Given the description of an element on the screen output the (x, y) to click on. 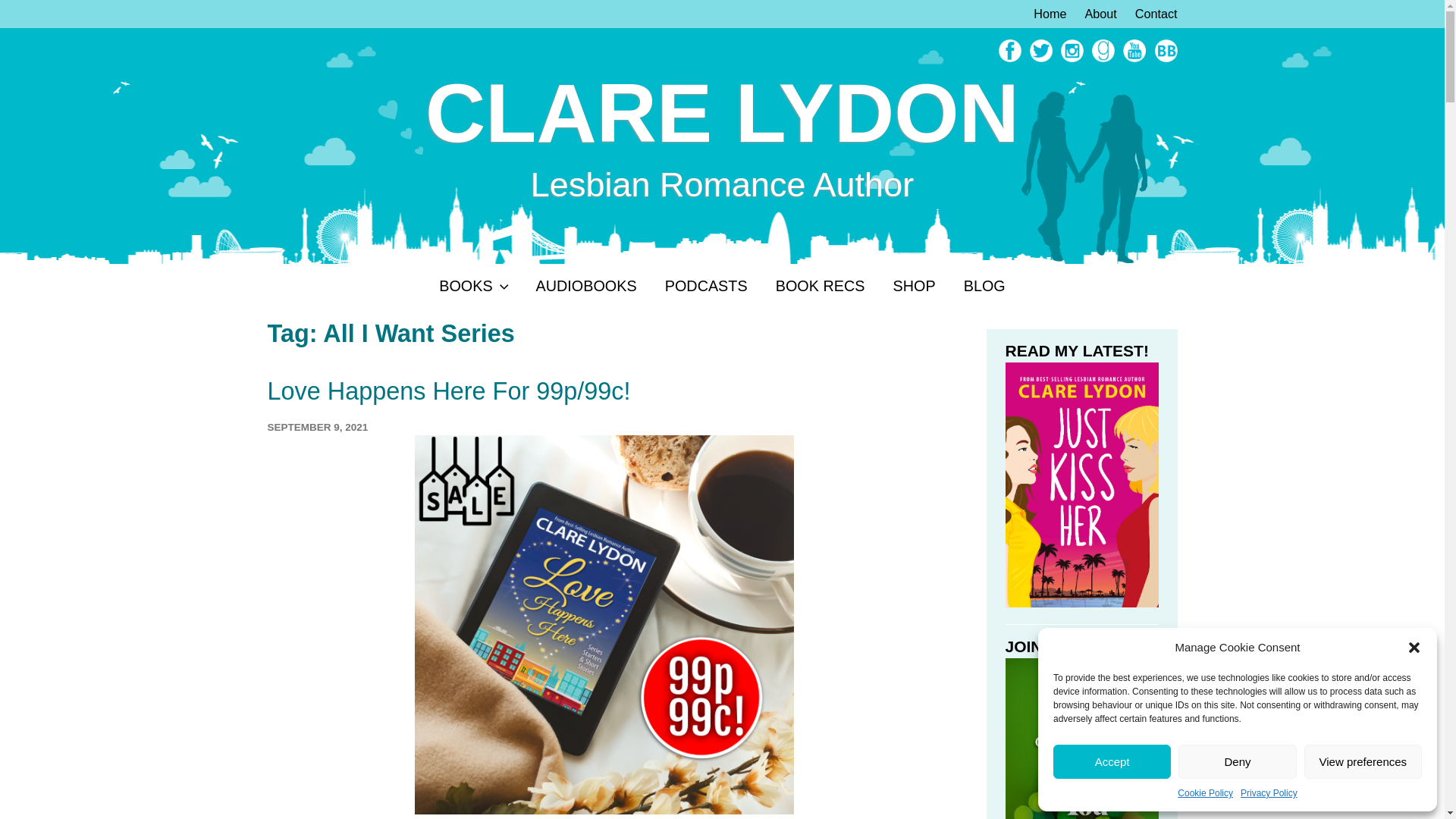
AUDIOBOOKS (586, 286)
goodreads - opens in a new window (1101, 57)
Contact (1147, 13)
Facebook - opens in a new window (1008, 57)
BOOKS (472, 286)
SEPTEMBER 9, 2021 (317, 427)
CLARE LYDON (722, 113)
BOOK RECS (819, 286)
PODCASTS (705, 286)
Deny (1236, 761)
